Given the description of an element on the screen output the (x, y) to click on. 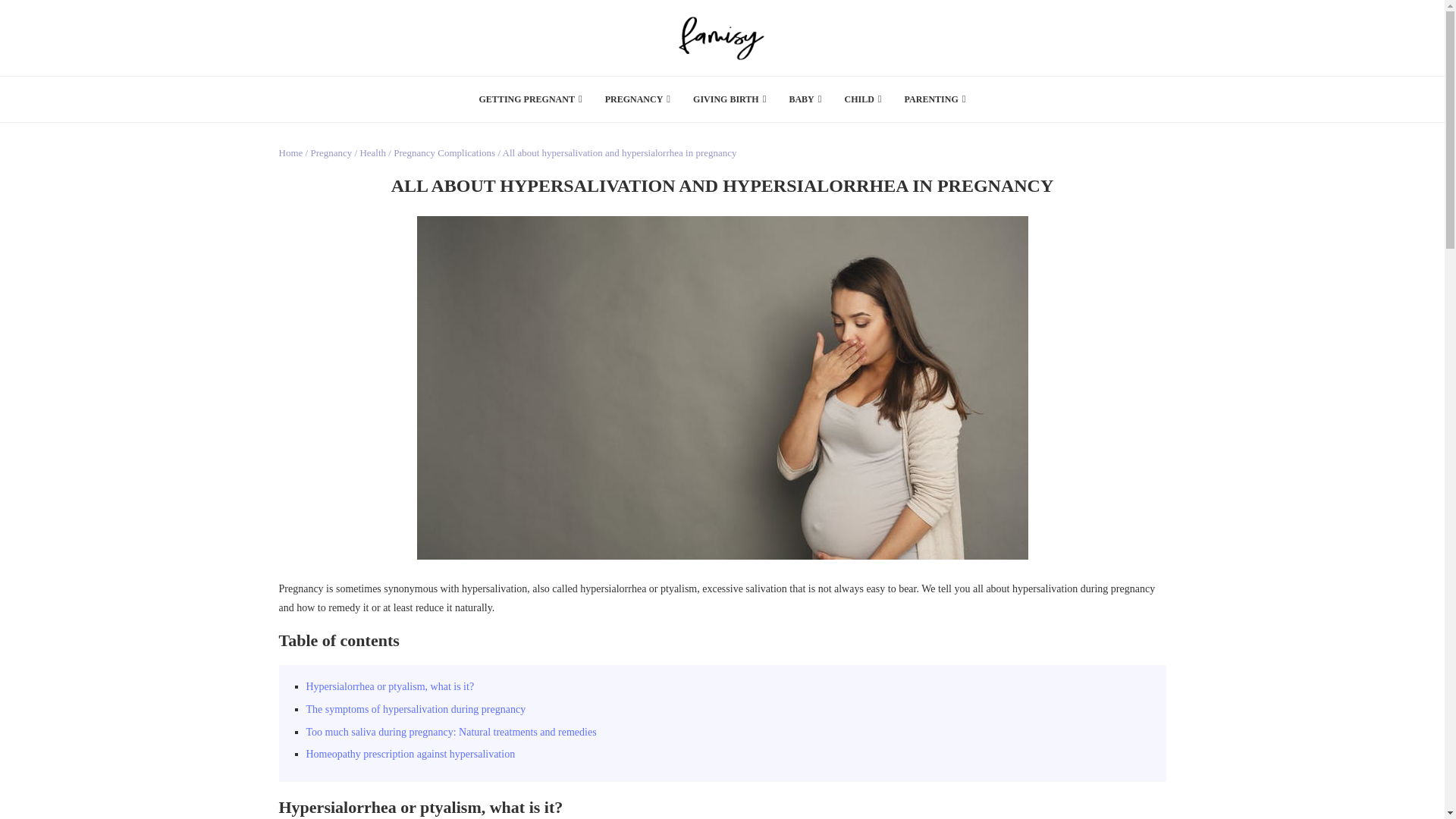
Search (1117, 7)
GIVING BIRTH (729, 99)
BABY (805, 99)
CHILD (863, 99)
PARENTING (935, 99)
PREGNANCY (637, 99)
Search (1117, 122)
GETTING PREGNANT (530, 99)
